Given the description of an element on the screen output the (x, y) to click on. 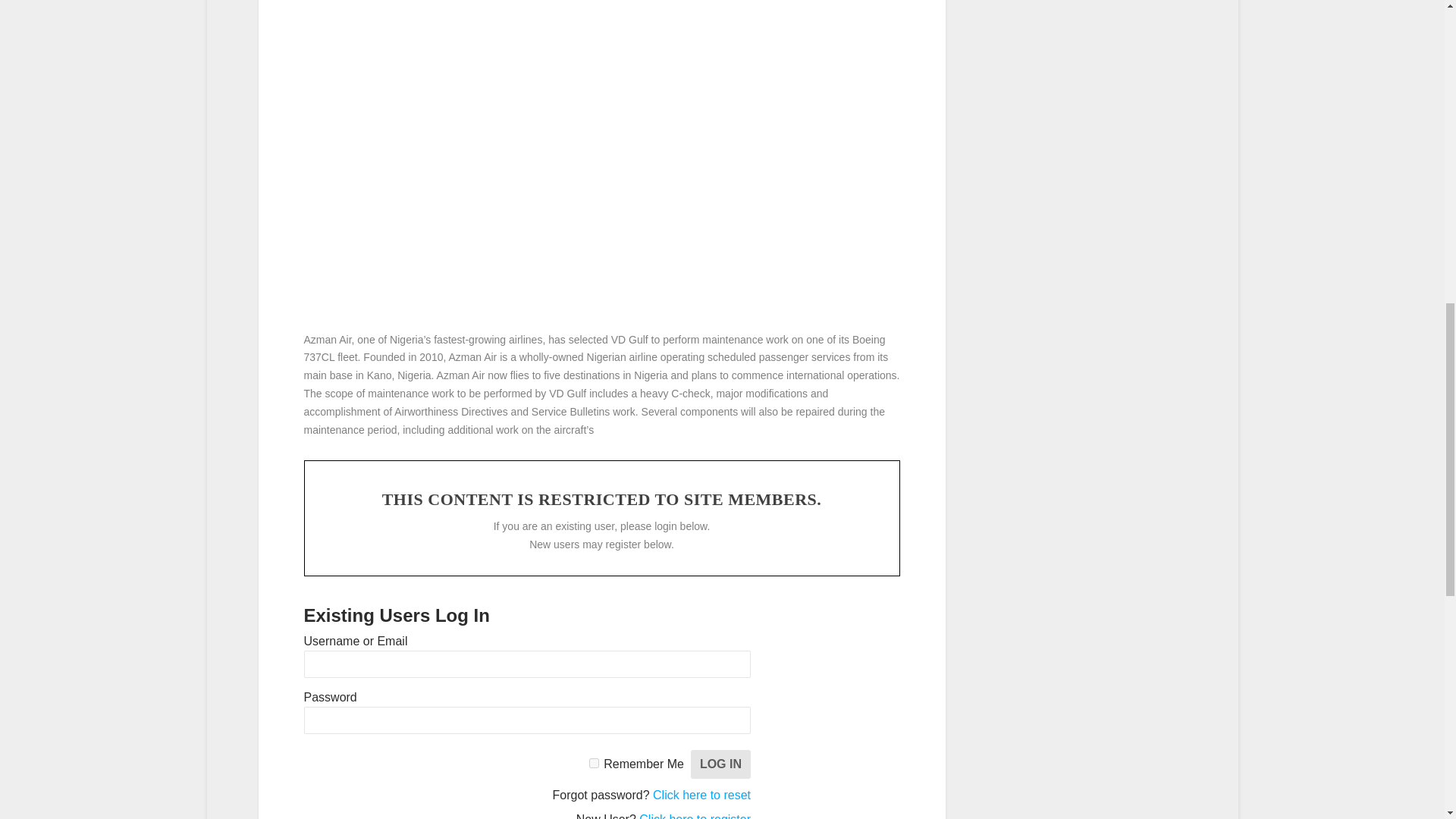
forever (593, 763)
Log In (720, 764)
